Given the description of an element on the screen output the (x, y) to click on. 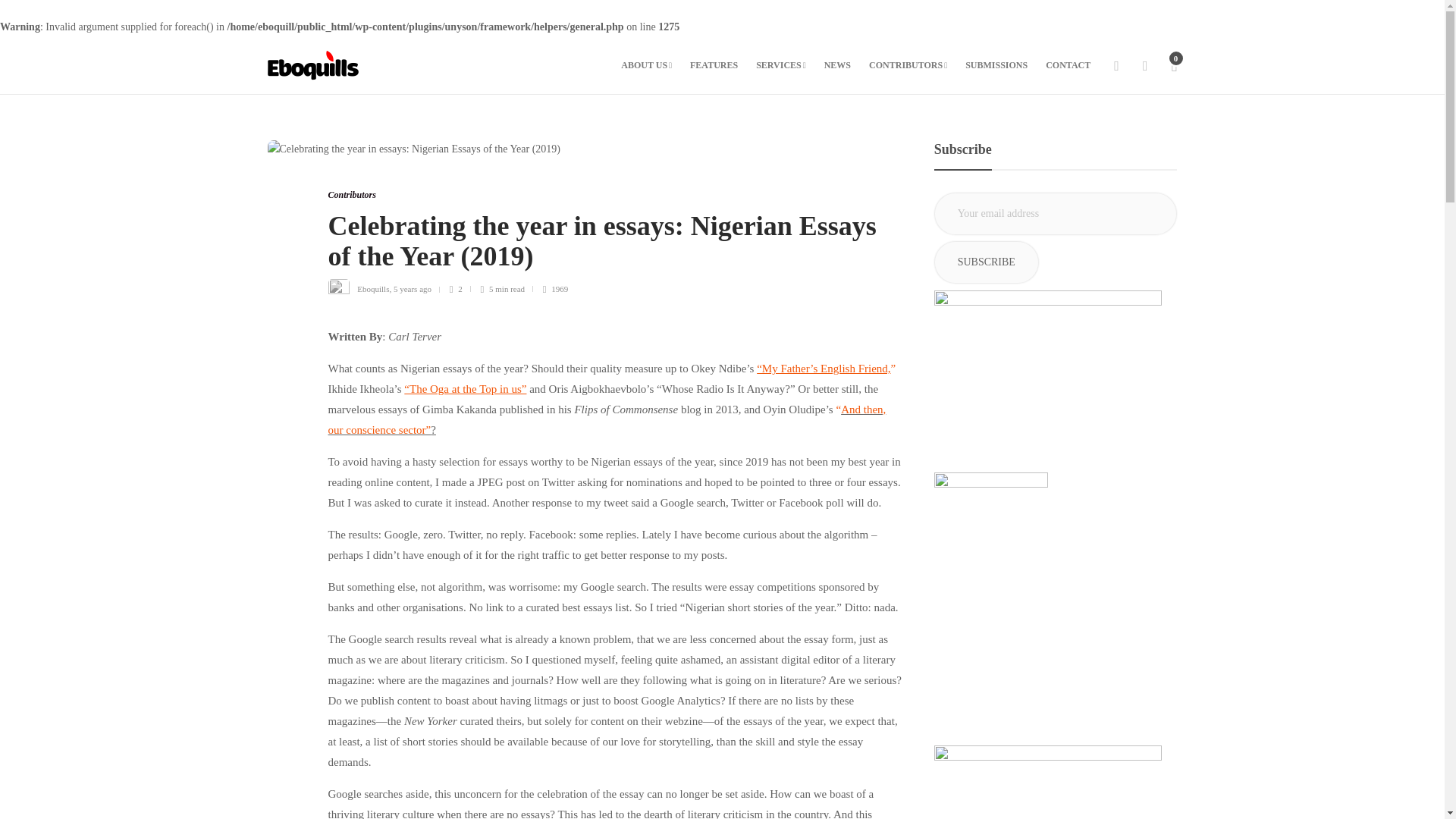
CONTRIBUTORS (908, 65)
SUBMISSIONS (996, 65)
Eboquills (372, 288)
2 (459, 288)
5 years ago (411, 288)
Contributors (351, 194)
